Given the description of an element on the screen output the (x, y) to click on. 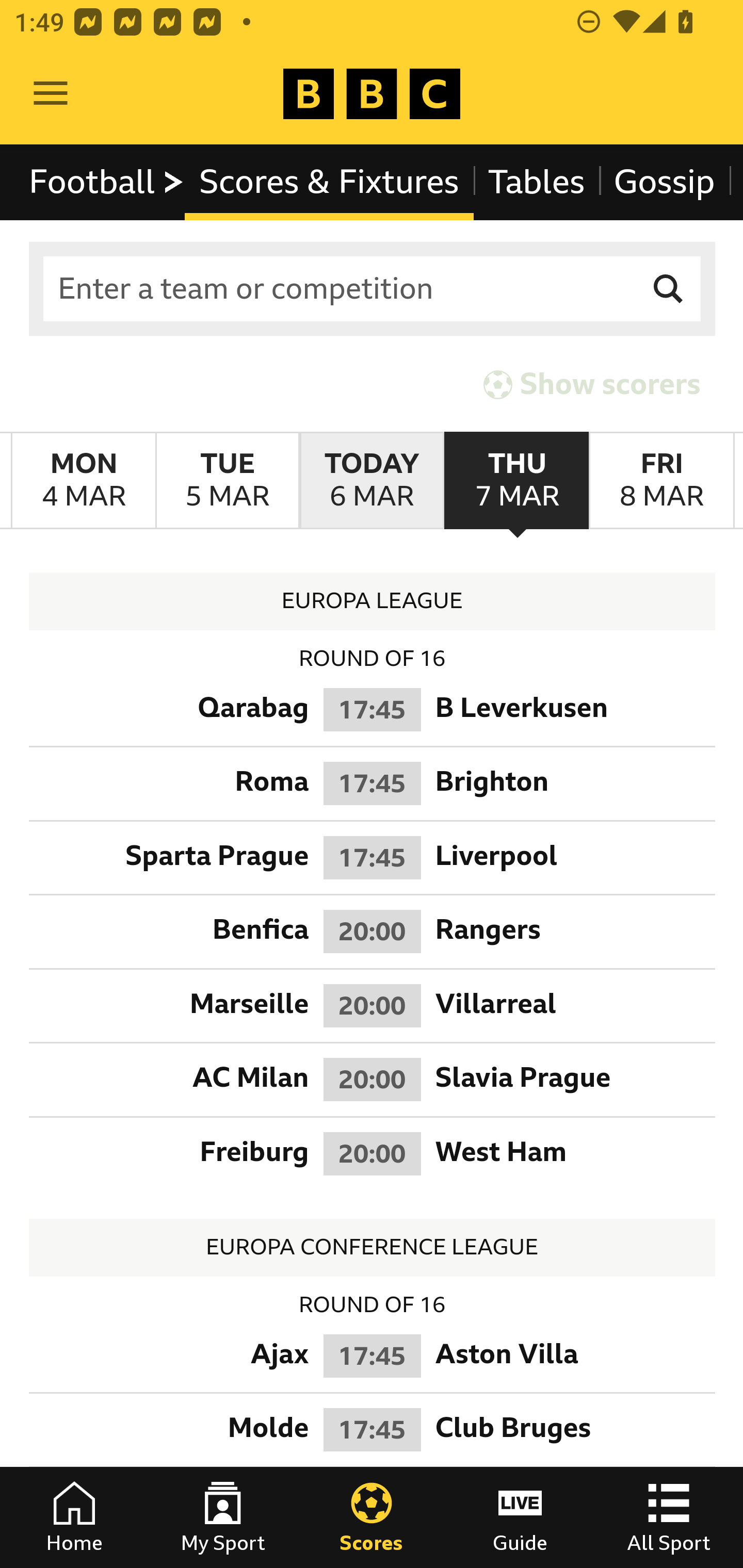
Open Menu (50, 93)
Football  (106, 181)
Scores & Fixtures (329, 181)
Tables (536, 181)
Gossip (664, 181)
Search (669, 289)
Show scorers (591, 383)
MondayMarch 4th Monday March 4th (83, 480)
TuesdayMarch 5th Tuesday March 5th (227, 480)
TodayMarch 6th Today March 6th (371, 480)
FridayMarch 8th Friday March 8th (661, 480)
Home (74, 1517)
My Sport (222, 1517)
Guide (519, 1517)
All Sport (668, 1517)
